Given the description of an element on the screen output the (x, y) to click on. 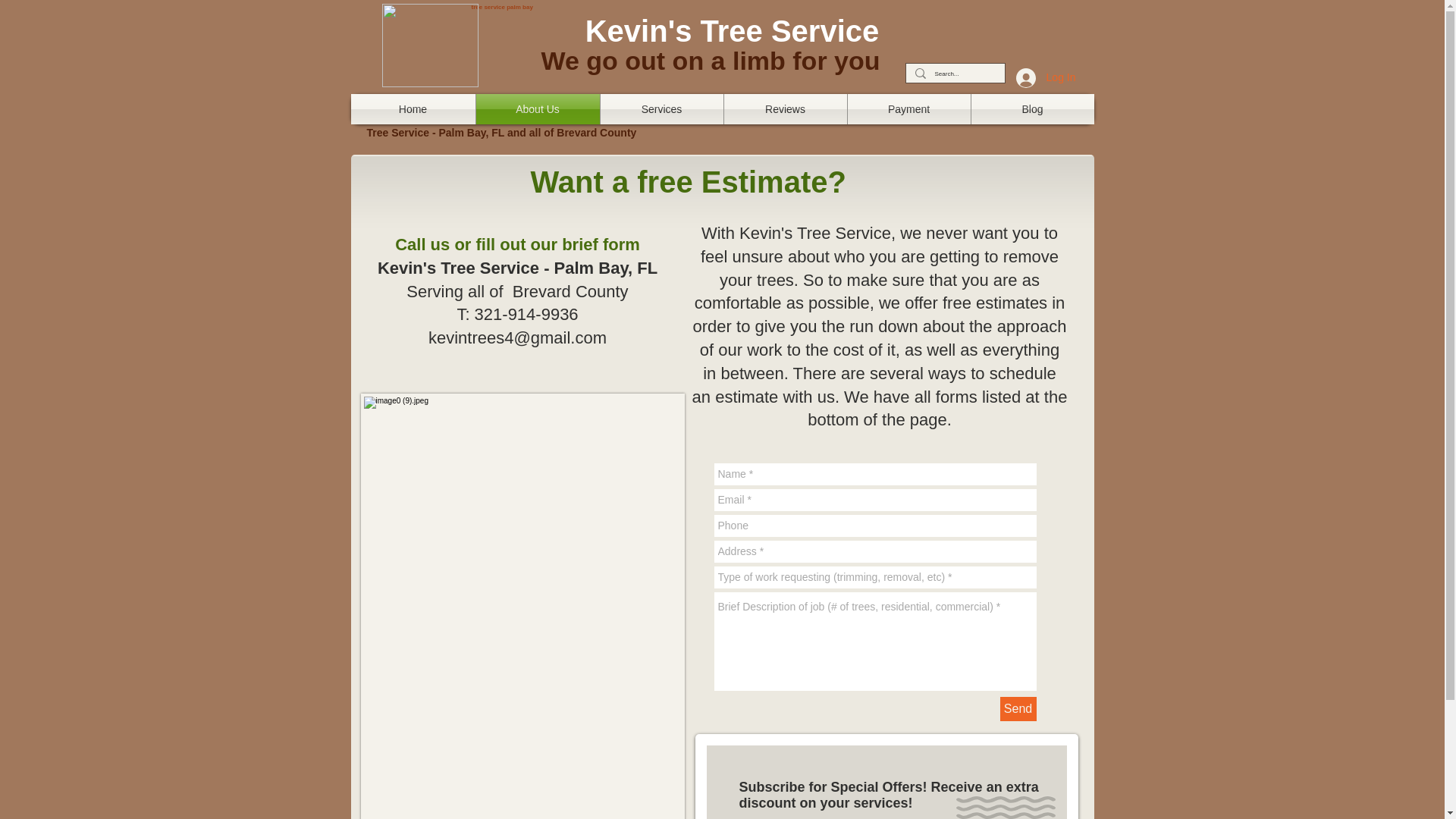
About Us (537, 109)
Log In (1046, 77)
Home (412, 109)
Services (661, 109)
Blog (1032, 109)
Payment (909, 109)
Reviews (784, 109)
Send (1016, 708)
